Given the description of an element on the screen output the (x, y) to click on. 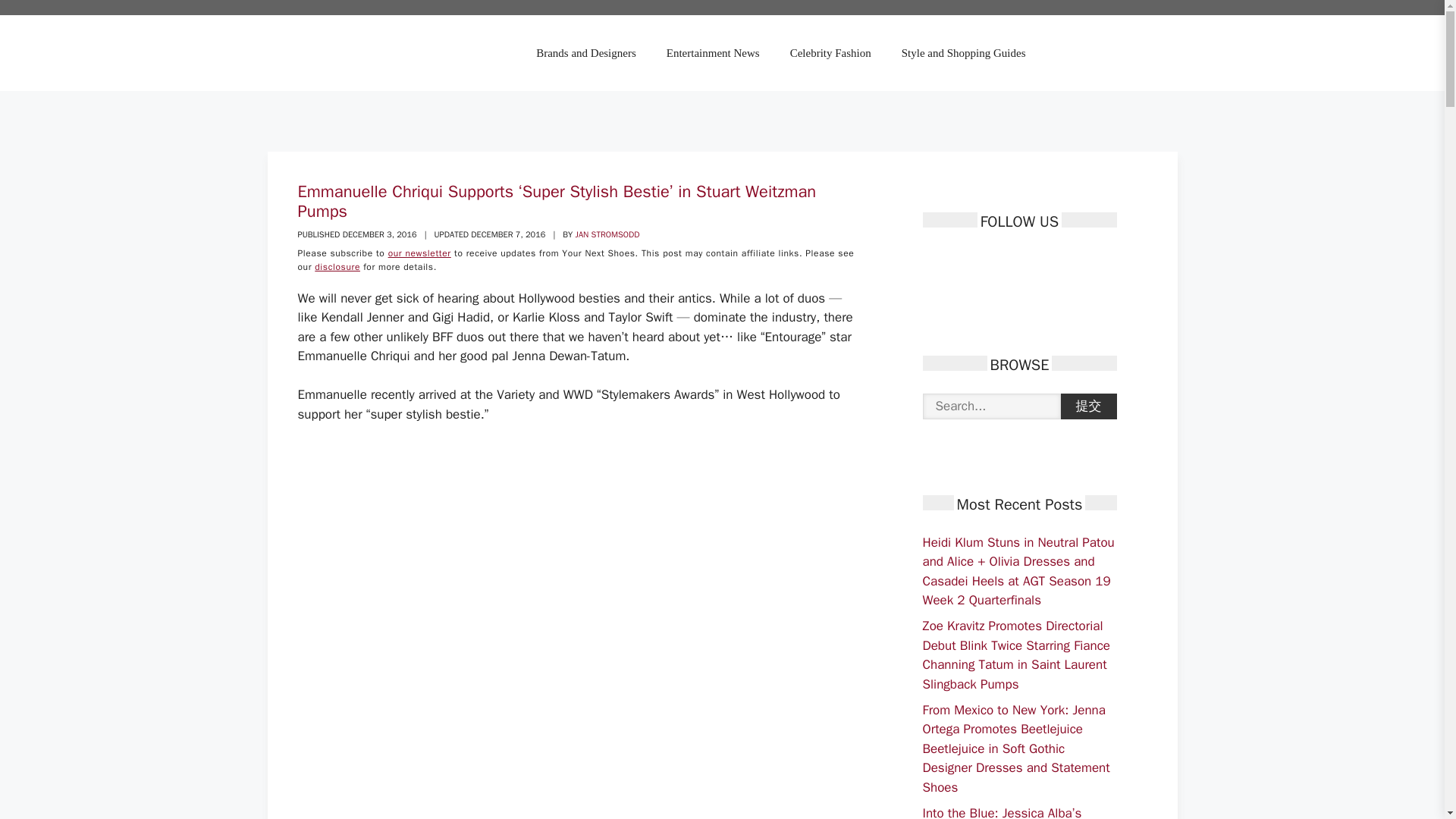
Entertainment News (712, 53)
JAN STROMSODD (607, 234)
our newsletter (419, 253)
disclosure (336, 266)
Instagram (1014, 261)
Style and Shopping Guides (963, 53)
Pinterest (986, 261)
Twitter (960, 261)
Facebook (932, 261)
Celebrity Fashion (830, 53)
